Given the description of an element on the screen output the (x, y) to click on. 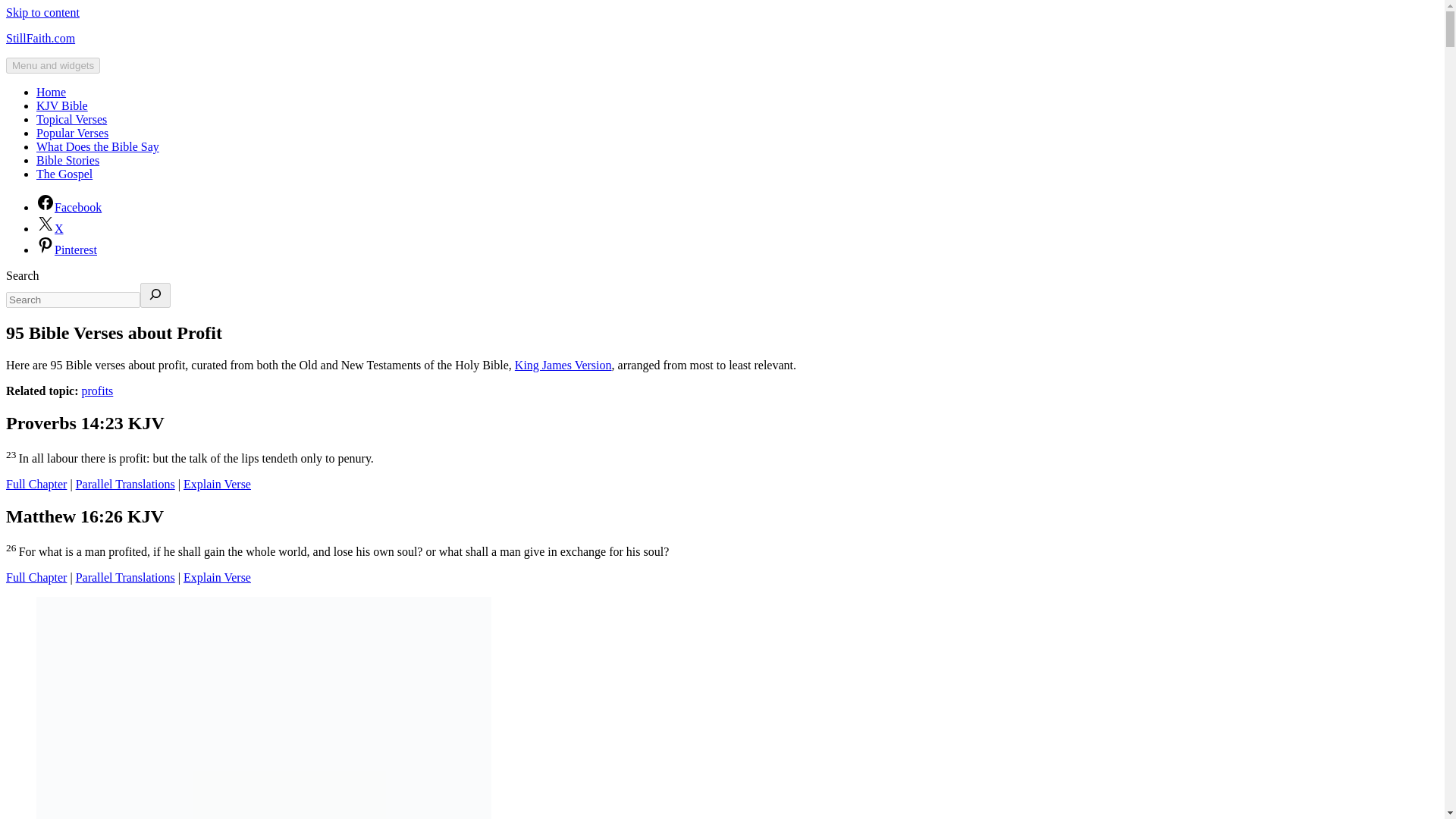
Parallel Translations (124, 483)
X (50, 228)
What Does the Bible Say (97, 146)
profits (97, 390)
Parallel Translations (124, 576)
Explain Verse (216, 483)
Topical Verses (71, 119)
KJV Bible (61, 105)
Popular Verses (71, 132)
Pinterest (66, 249)
Explain Verse (216, 576)
StillFaith.com (40, 38)
Skip to content (42, 11)
Full Chapter (35, 576)
Facebook (68, 206)
